Given the description of an element on the screen output the (x, y) to click on. 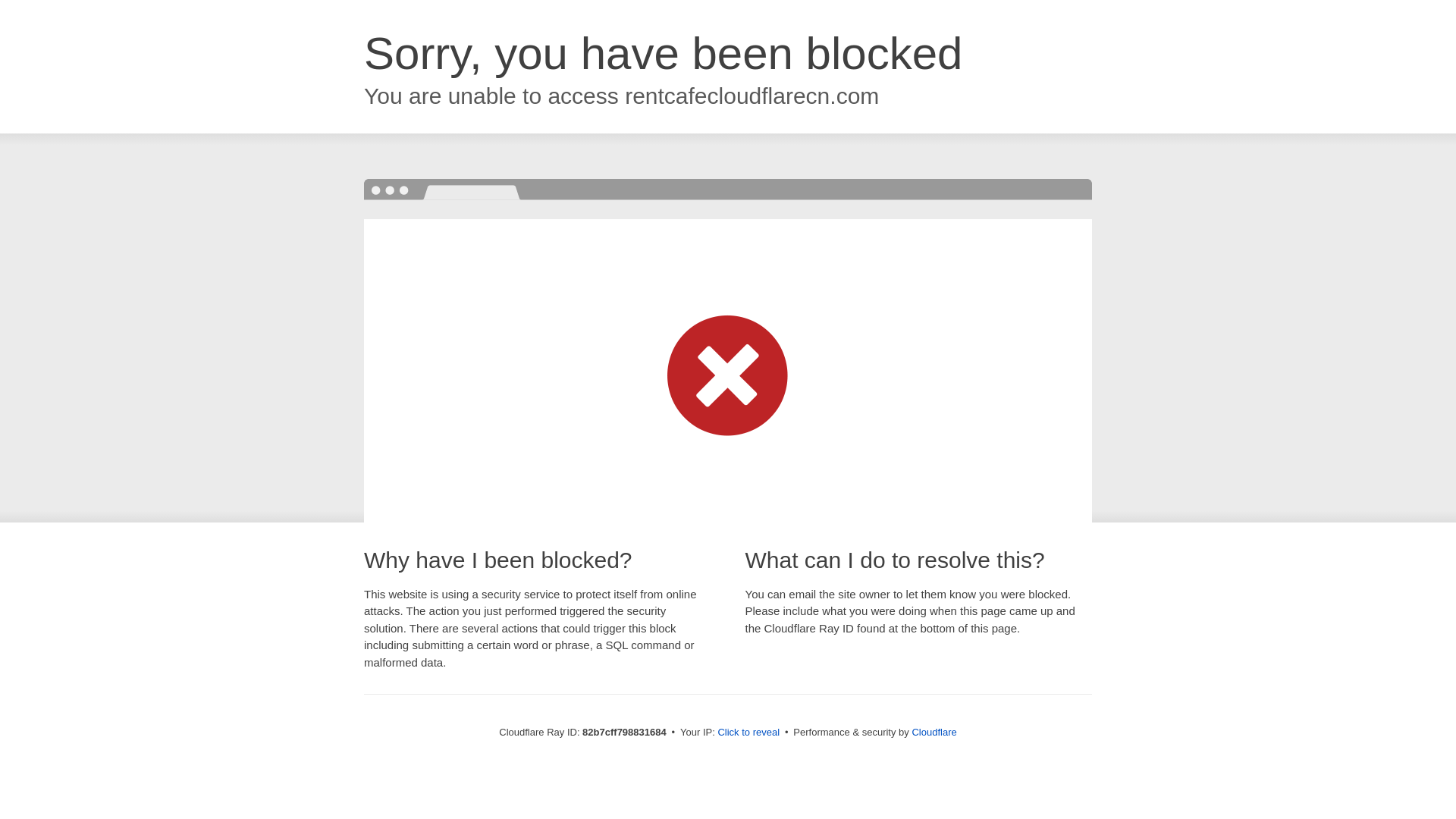
Cloudflare Element type: text (933, 731)
Click to reveal Element type: text (748, 732)
